Given the description of an element on the screen output the (x, y) to click on. 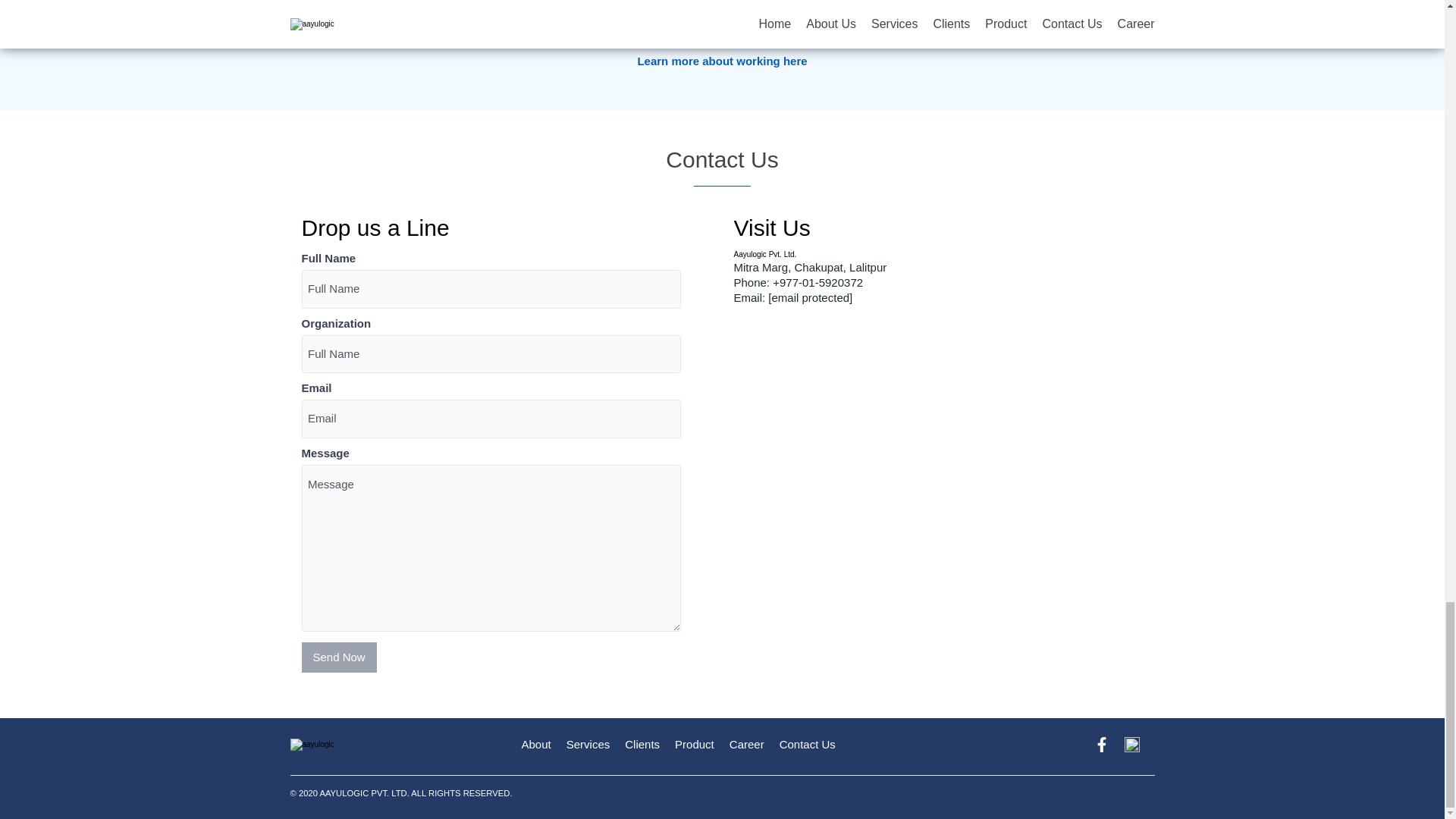
Learn more about working here (721, 60)
9802075560 (895, 40)
Send Now (339, 656)
Product (694, 744)
Career (746, 744)
Clients (641, 744)
About (536, 744)
Contact Us (806, 744)
Services (588, 744)
